Given the description of an element on the screen output the (x, y) to click on. 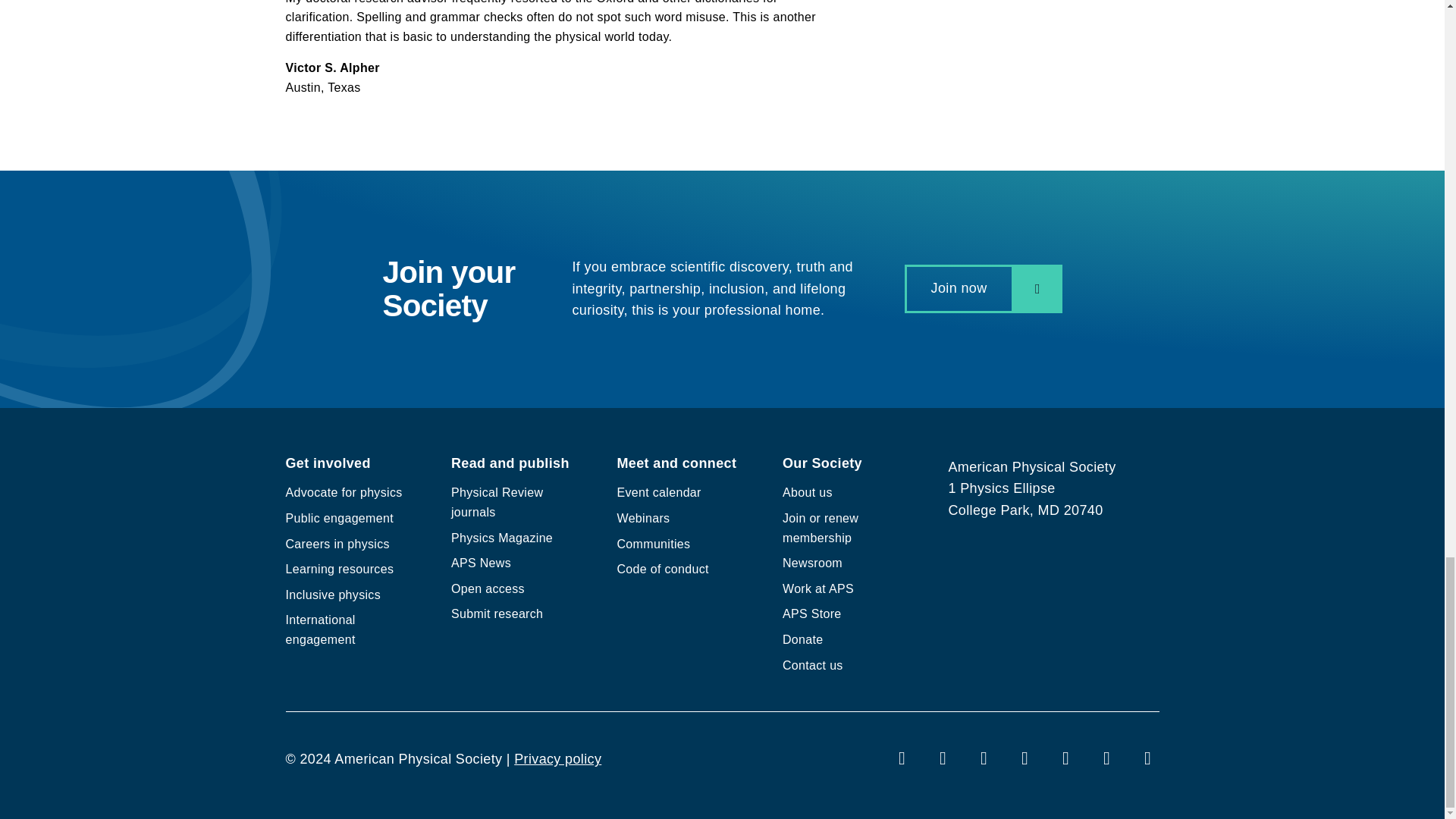
Inclusive physics (332, 594)
Careers in physics (336, 543)
APS News (481, 562)
Physical Review journals (497, 502)
Webinars (643, 517)
Join now (983, 287)
Event calendar (659, 492)
Advocate for physics (343, 492)
Open access (487, 588)
Code of conduct (663, 568)
Submit research (497, 613)
Learning resources (339, 568)
Physics Magazine (502, 537)
Communities (653, 543)
International engagement (320, 629)
